Given the description of an element on the screen output the (x, y) to click on. 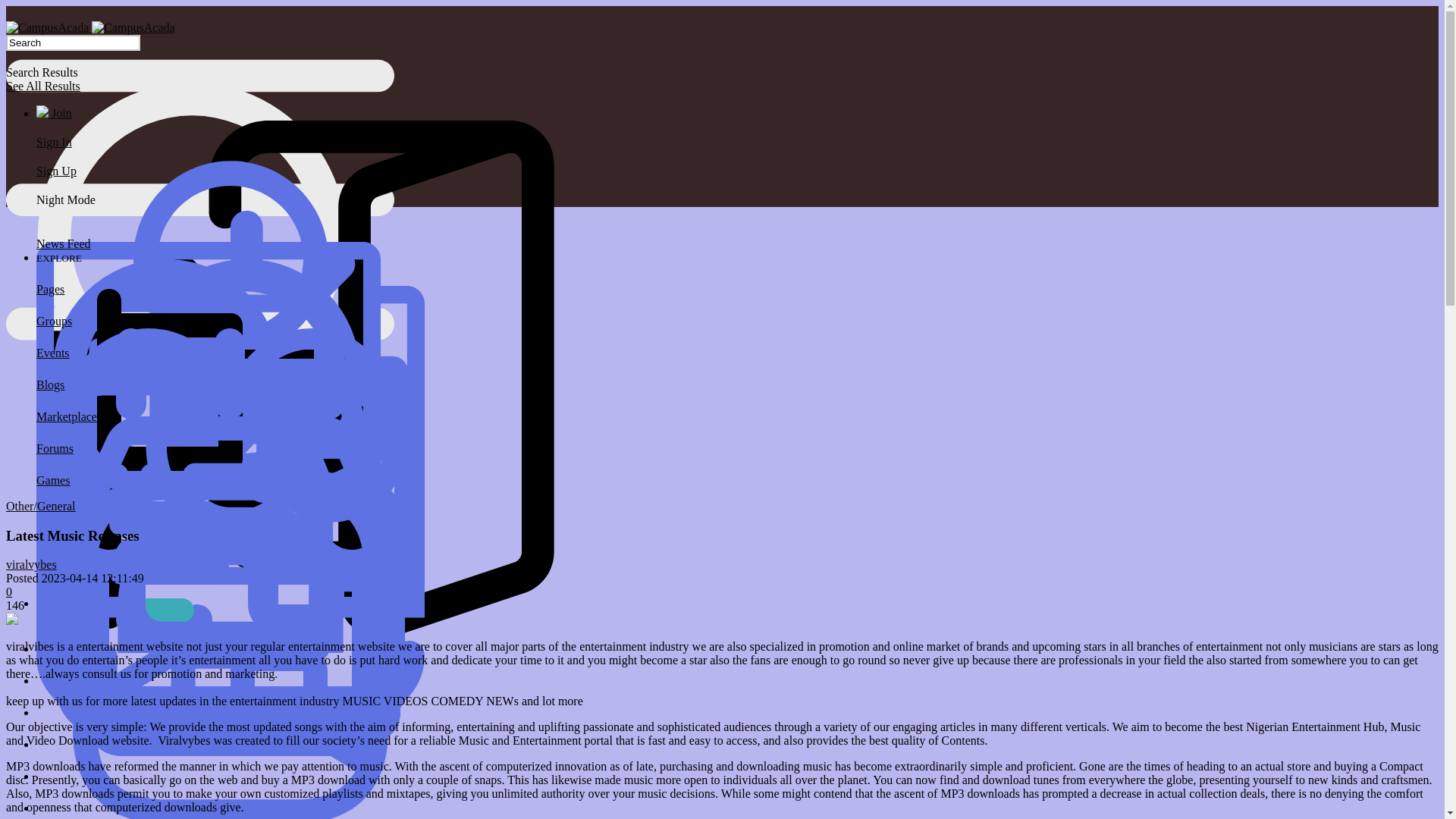
0 (8, 591)
Join (53, 113)
viralvybes (30, 563)
See All Results (42, 85)
CampusAcada (46, 28)
CampusAcada (132, 28)
